Given the description of an element on the screen output the (x, y) to click on. 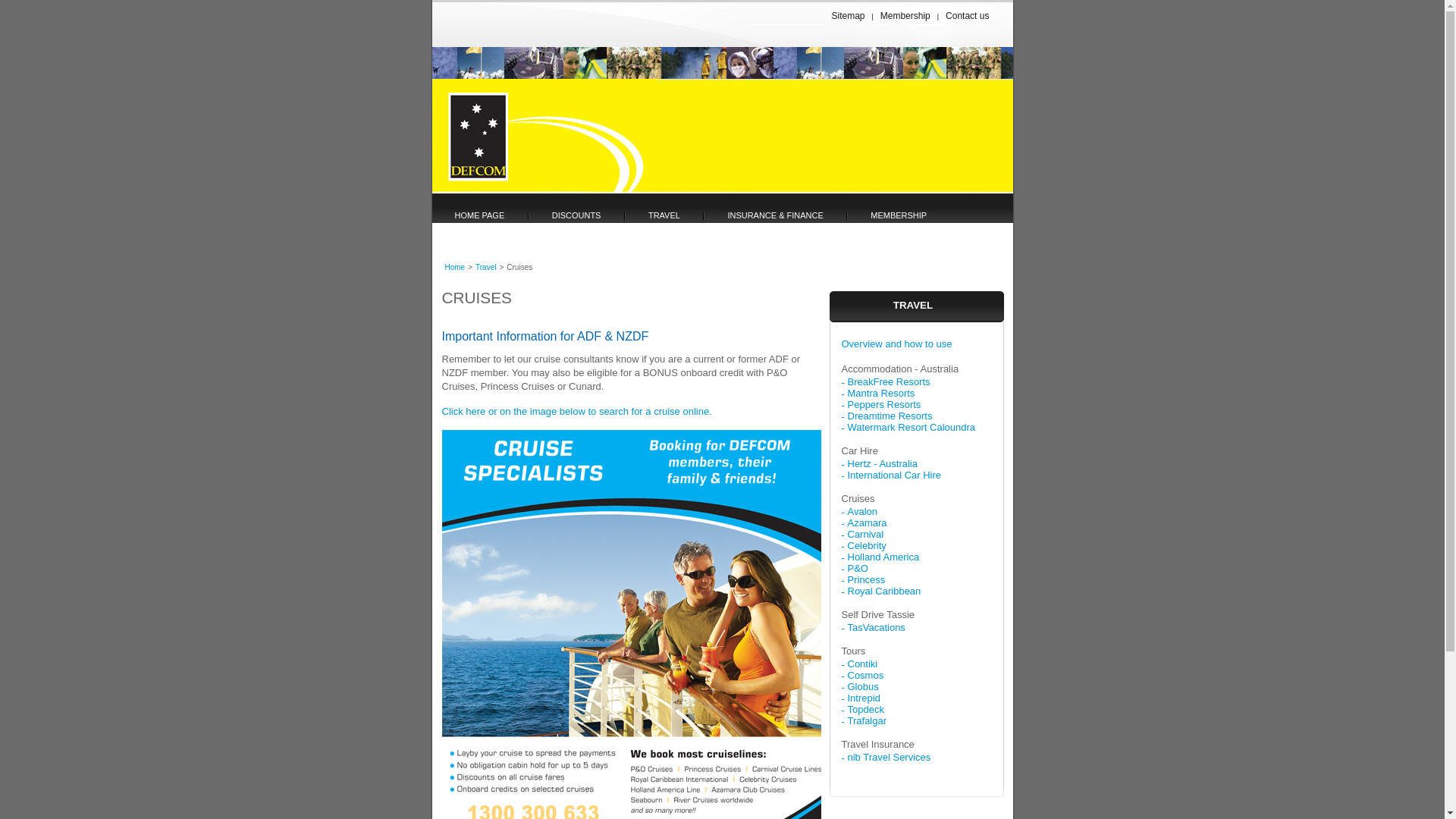
International Car Hire Element type: text (894, 474)
Contact us Element type: text (966, 15)
Mantra Resorts Element type: text (881, 392)
Membership Element type: text (905, 15)
Sitemap Element type: text (847, 15)
Topdeck Element type: text (865, 709)
Cosmos Element type: text (865, 674)
HOME PAGE Element type: text (478, 214)
Trafalgar Element type: text (867, 720)
Hertz - Australia Element type: text (882, 463)
Watermark Resort Caloundra Element type: text (911, 427)
Royal Caribbean Element type: text (884, 590)
Carnival Element type: text (865, 533)
BreakFree Resorts Element type: text (888, 381)
Travel Element type: text (485, 267)
TRAVEL Element type: text (662, 214)
TasVacations Element type: text (876, 627)
Contiki Element type: text (862, 663)
DISCOUNTS Element type: text (574, 214)
Peppers Resorts Element type: text (884, 404)
INSURANCE & FINANCE Element type: text (773, 214)
Home Element type: text (454, 267)
Overview and how to use Element type: text (896, 350)
P&O Element type: text (857, 568)
MEMBERSHIP Element type: text (896, 214)
Princess Element type: text (866, 579)
Globus Element type: text (862, 686)
Avalon Element type: text (862, 511)
Celebrity Element type: text (866, 545)
Intrepid Element type: text (863, 697)
Dreamtime Resorts Element type: text (889, 415)
nib Travel Services Element type: text (889, 756)
Holland America Element type: text (883, 556)
Azamara Element type: text (867, 522)
